Given the description of an element on the screen output the (x, y) to click on. 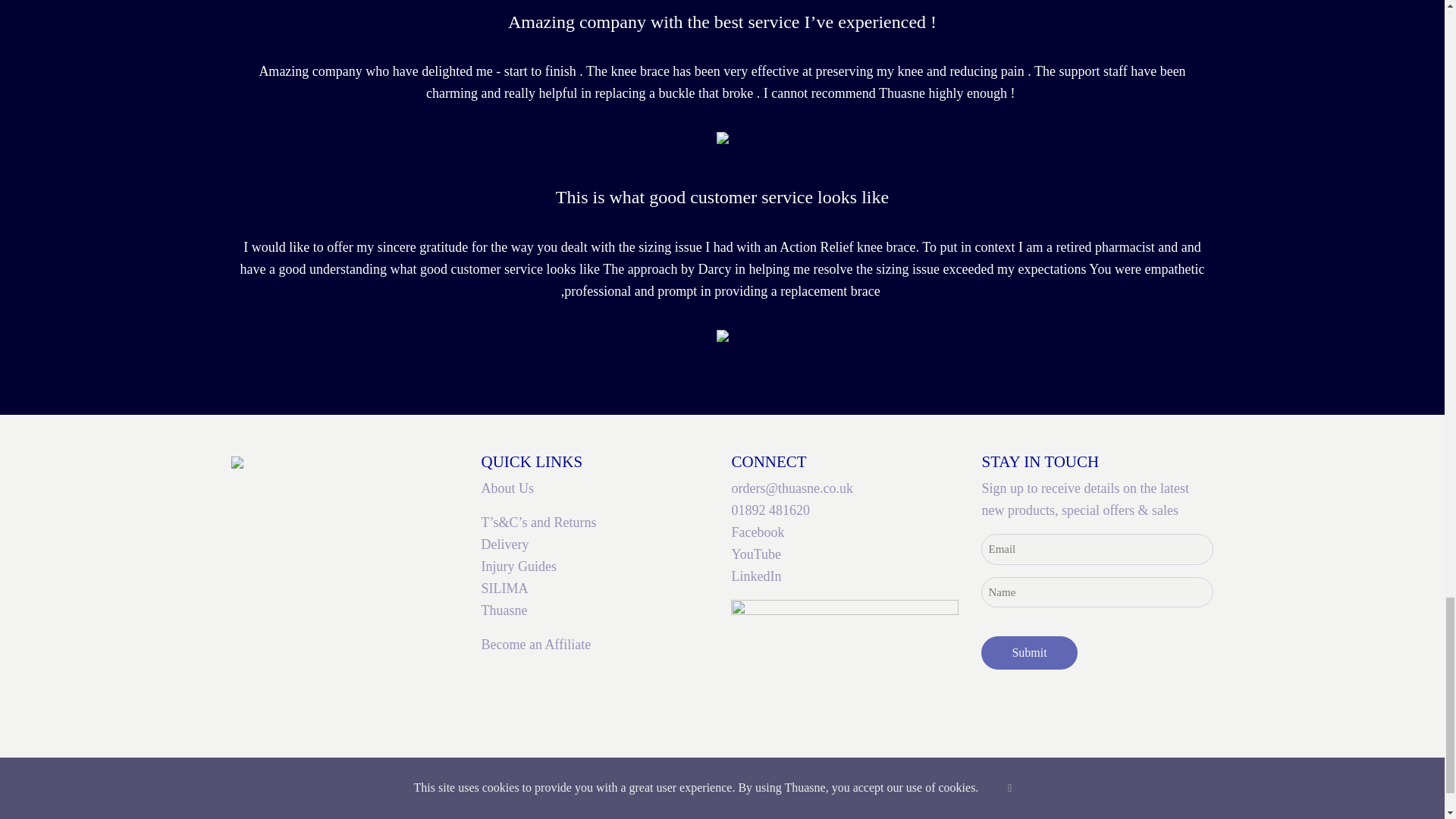
Submit (1029, 652)
